Given the description of an element on the screen output the (x, y) to click on. 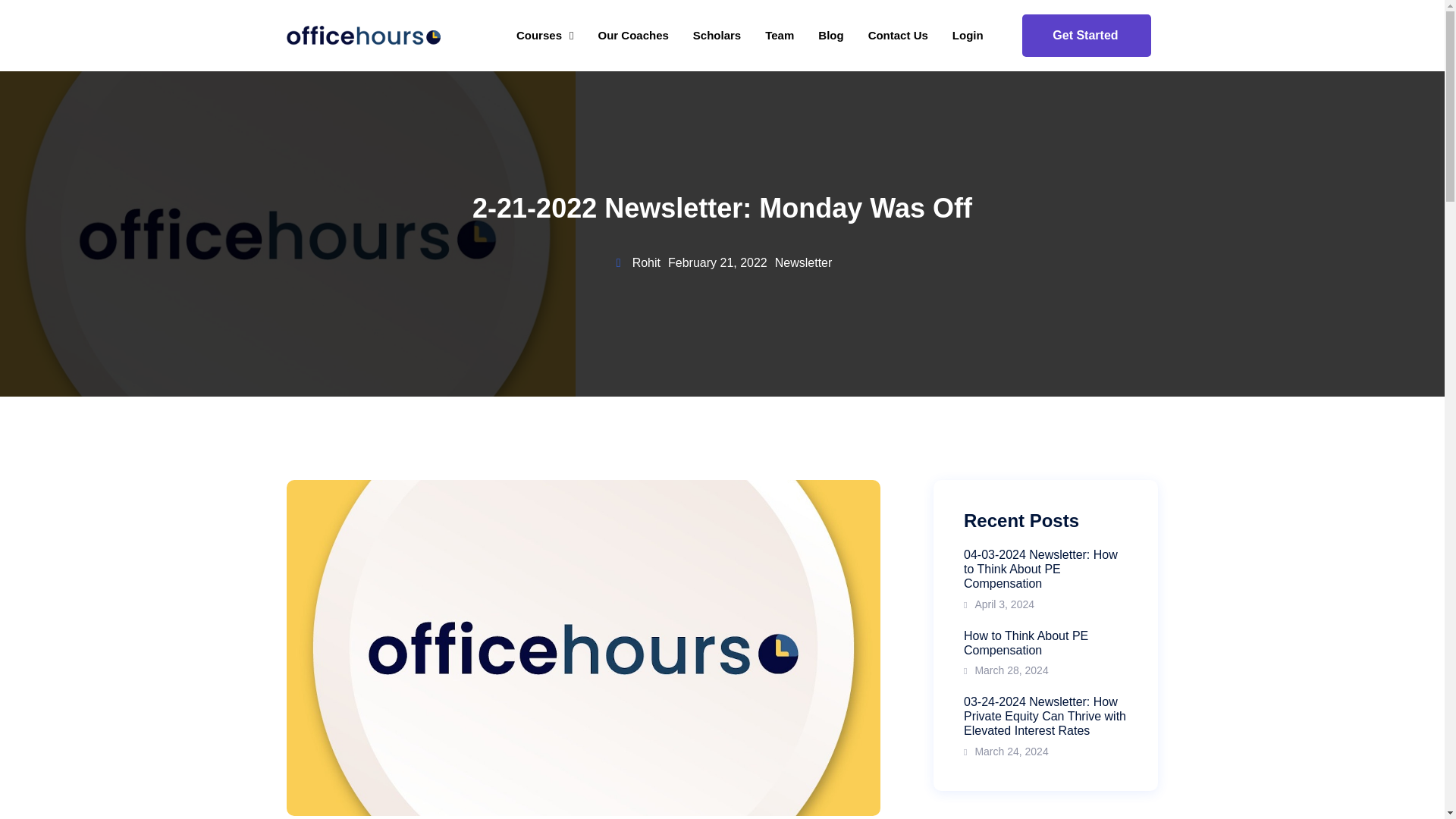
Our Coaches (632, 35)
Team (779, 35)
Get Started (1086, 35)
Contact Us (898, 35)
Scholars (1044, 653)
Courses (716, 35)
Login (544, 35)
Blog (967, 35)
